Given the description of an element on the screen output the (x, y) to click on. 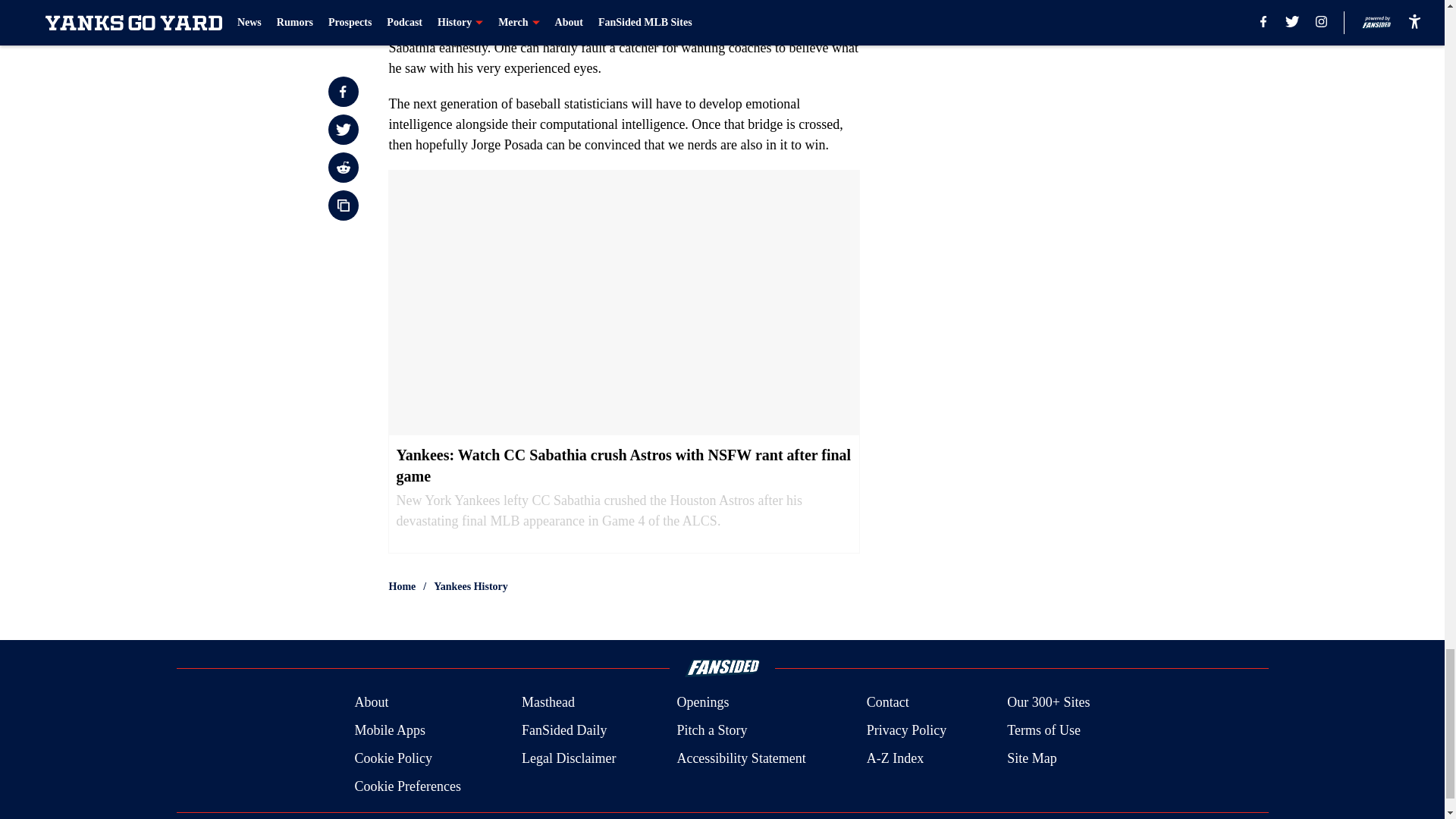
About (370, 702)
Masthead (548, 702)
Yankees History (470, 586)
Home (401, 586)
